Given the description of an element on the screen output the (x, y) to click on. 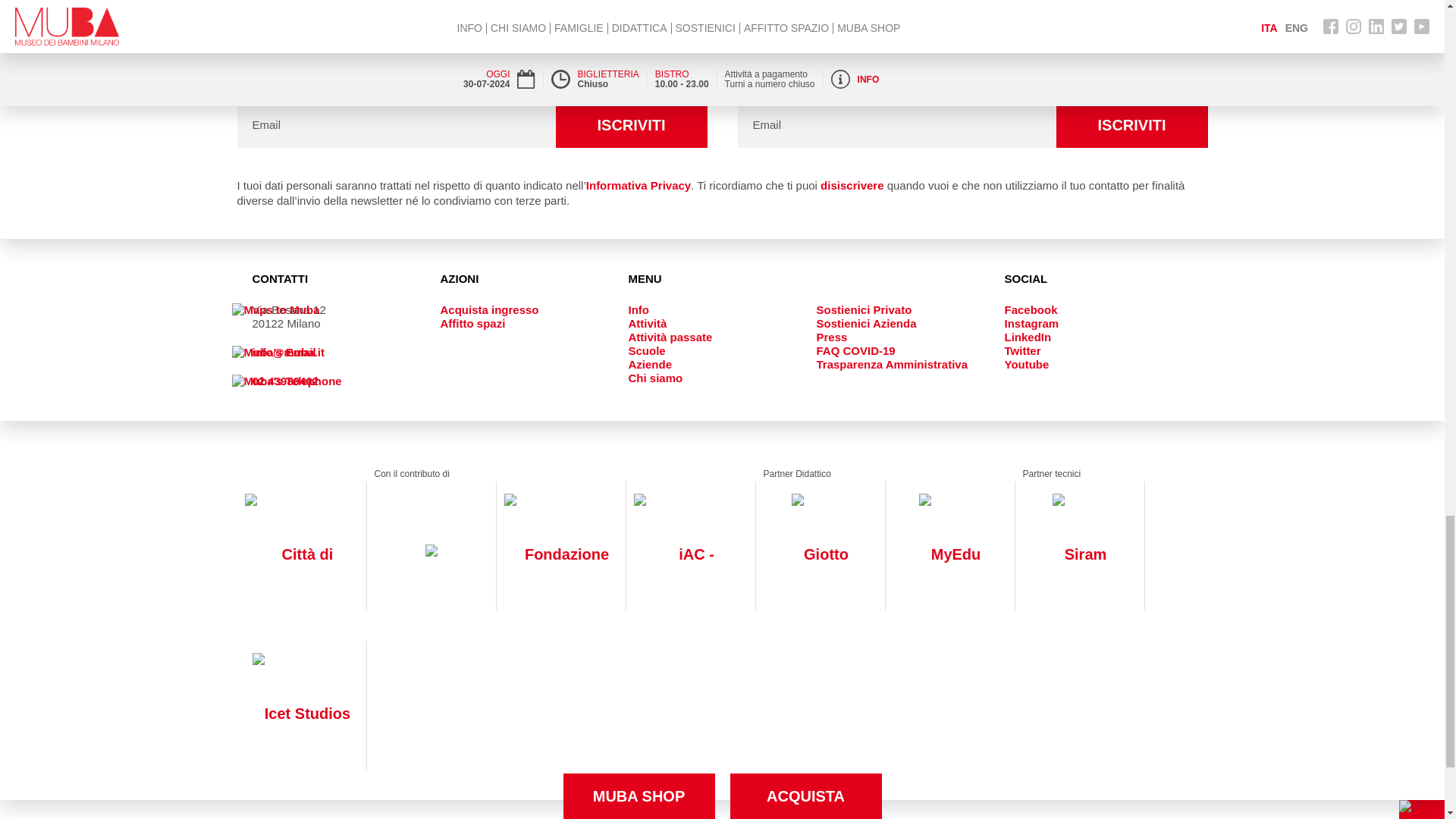
ISCRIVITI (630, 125)
ISCRIVITI (1131, 125)
ISCRIVITI (630, 125)
ISCRIVITI (1131, 125)
